Given the description of an element on the screen output the (x, y) to click on. 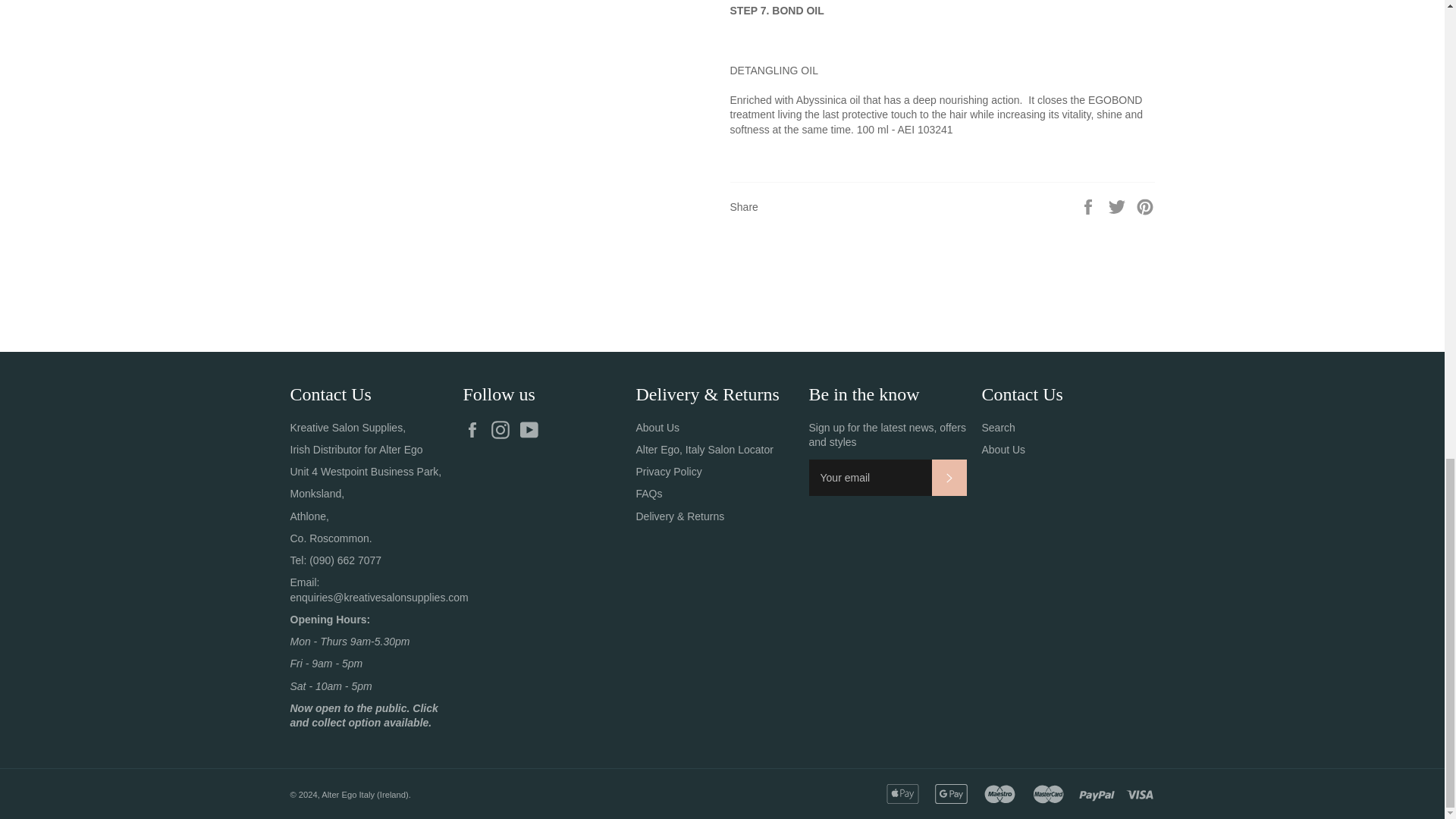
Share on Facebook (1089, 205)
Call via Hangouts (344, 560)
Tweet on Twitter (1118, 205)
FAQs (648, 493)
Stockists (703, 449)
Privacy Policy (667, 471)
Pin on Pinterest (1144, 205)
About Alter Ego, Italy (656, 427)
